Given the description of an element on the screen output the (x, y) to click on. 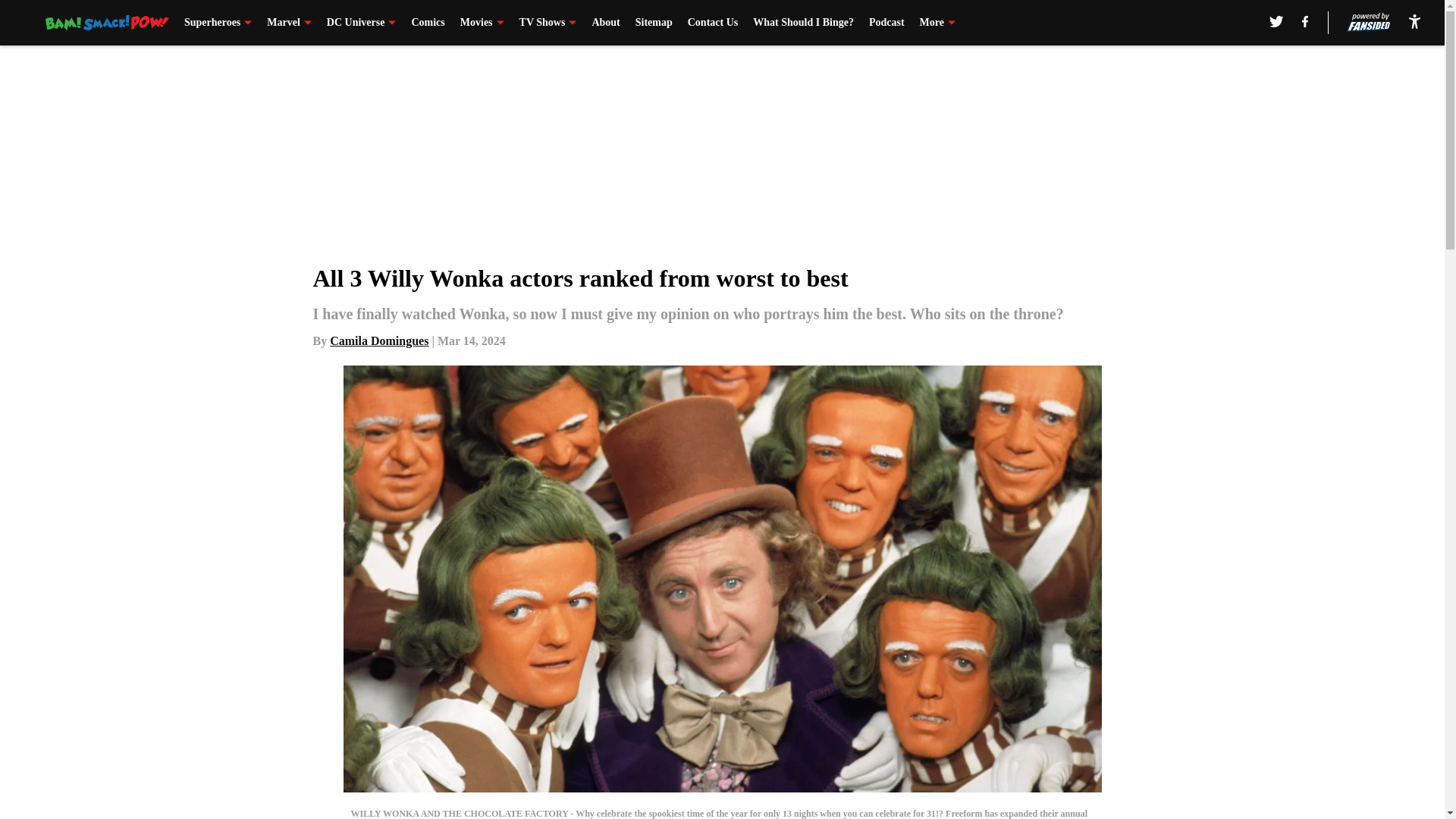
More (937, 22)
Podcast (886, 22)
Camila Domingues (379, 340)
About (605, 22)
What Should I Binge? (802, 22)
Sitemap (653, 22)
Contact Us (712, 22)
Movies (481, 22)
Comics (427, 22)
